Given the description of an element on the screen output the (x, y) to click on. 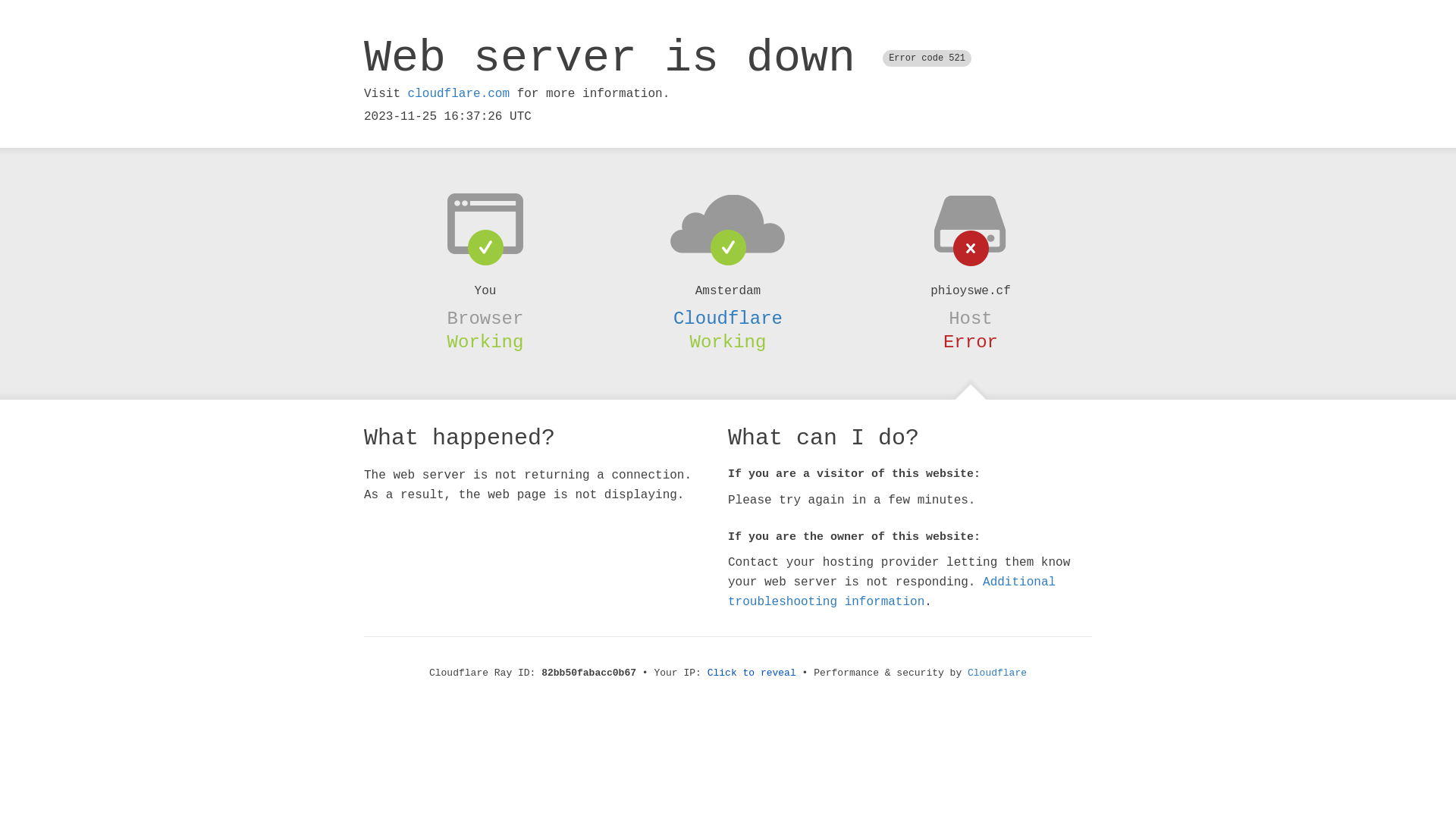
cloudflare.com Element type: text (458, 93)
Additional troubleshooting information Element type: text (891, 591)
Click to reveal Element type: text (751, 672)
Cloudflare Element type: text (727, 318)
Cloudflare Element type: text (996, 672)
